Given the description of an element on the screen output the (x, y) to click on. 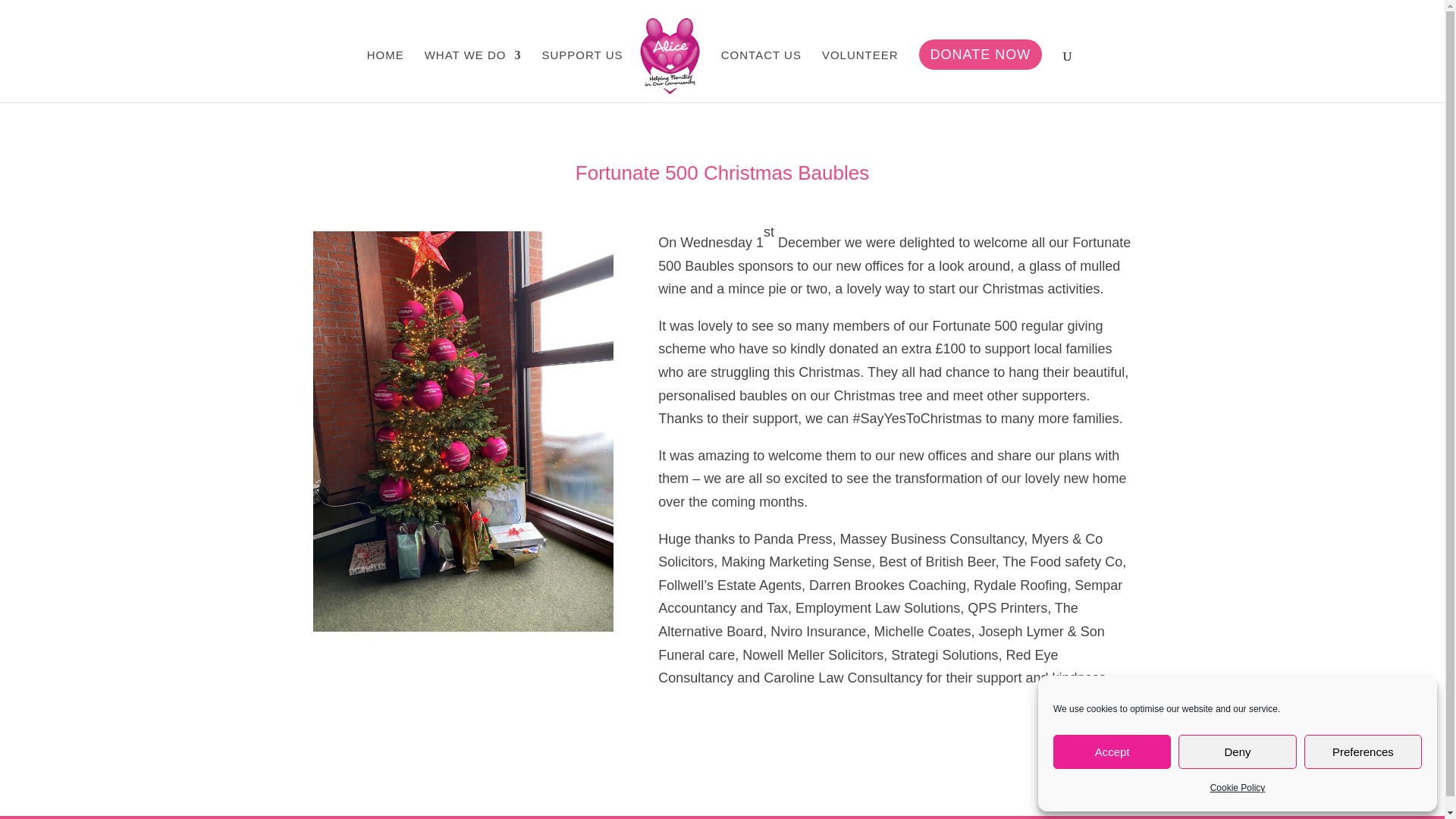
VOLUNTEER (860, 75)
DONATE NOW (980, 75)
Accept (1111, 751)
SUPPORT US (582, 75)
Preferences (1363, 751)
Deny (1236, 751)
WHAT WE DO (473, 75)
CONTACT US (761, 75)
Cookie Policy (1237, 788)
